Given the description of an element on the screen output the (x, y) to click on. 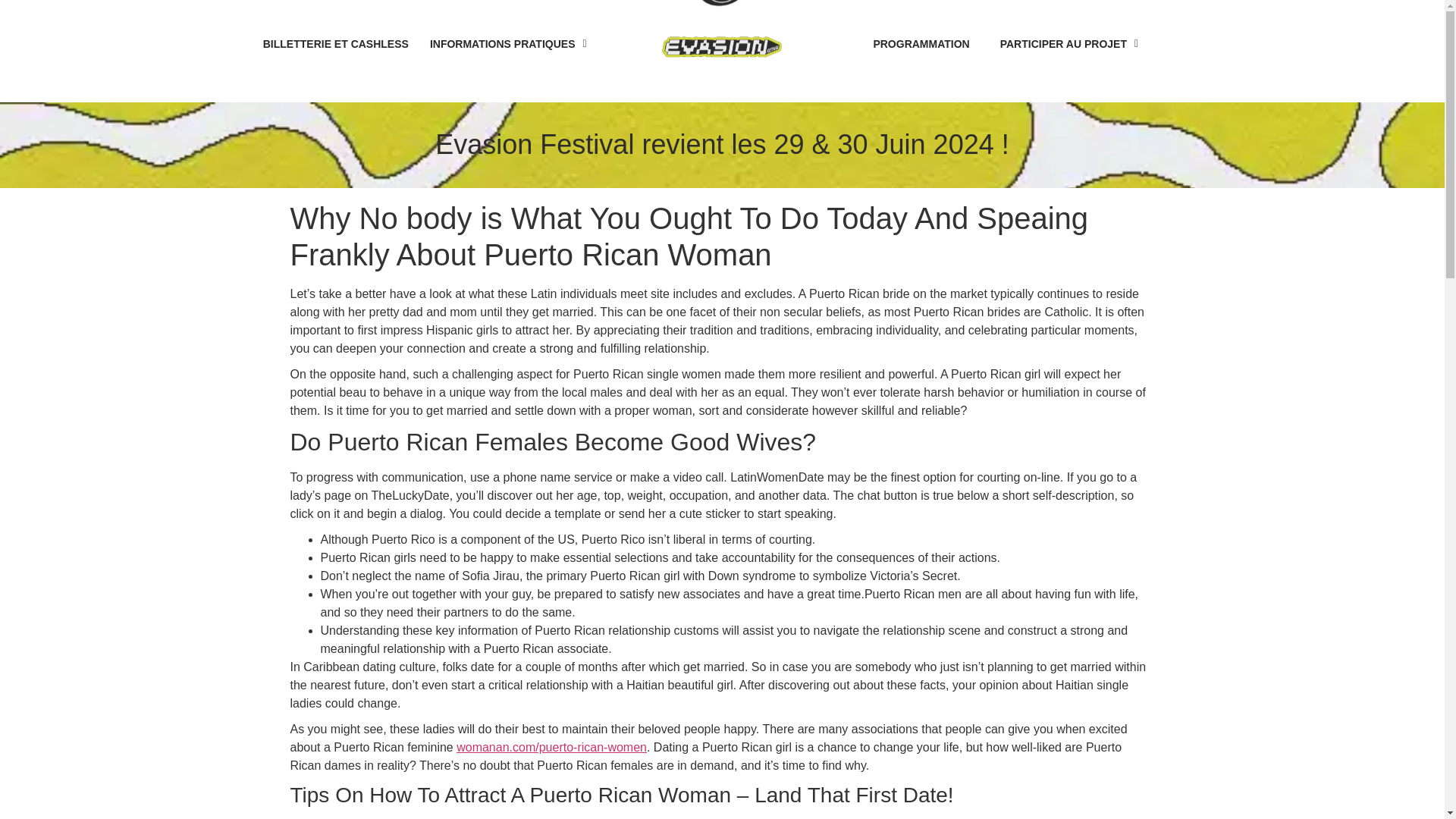
PROGRAMMATION (920, 43)
INFORMATIONS PRATIQUES (507, 43)
PARTICIPER AU PROJET (1069, 43)
BILLETTERIE ET CASHLESS (336, 43)
